Given the description of an element on the screen output the (x, y) to click on. 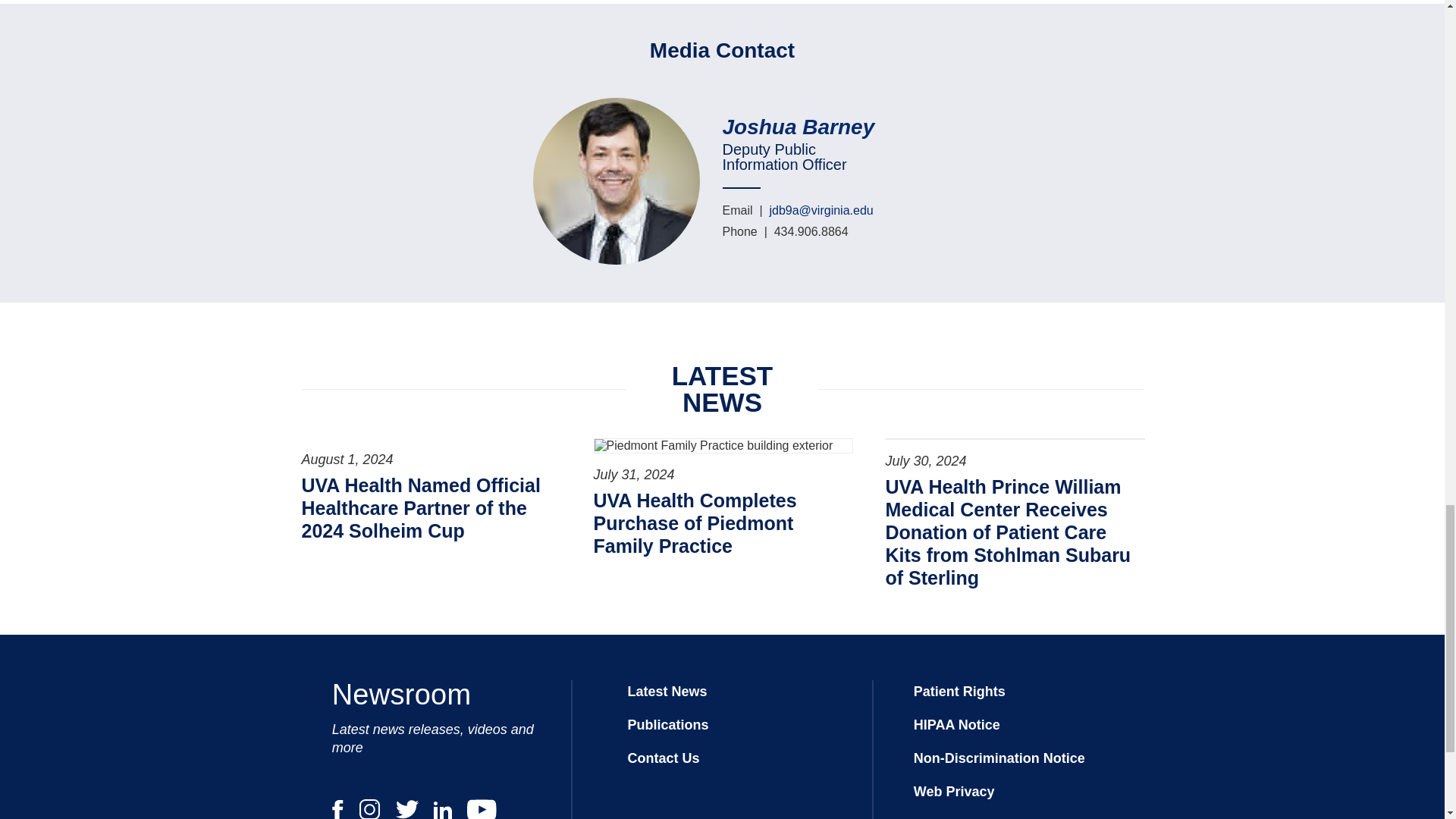
Web Privacy (954, 791)
Financial Interests (973, 818)
Patient Rights (960, 691)
HIPAA Notice (957, 724)
UVA Health Completes Purchase of Piedmont Family Practice  (721, 522)
View all posts by  (805, 127)
Joshua Barney (805, 127)
Latest News (666, 691)
